Given the description of an element on the screen output the (x, y) to click on. 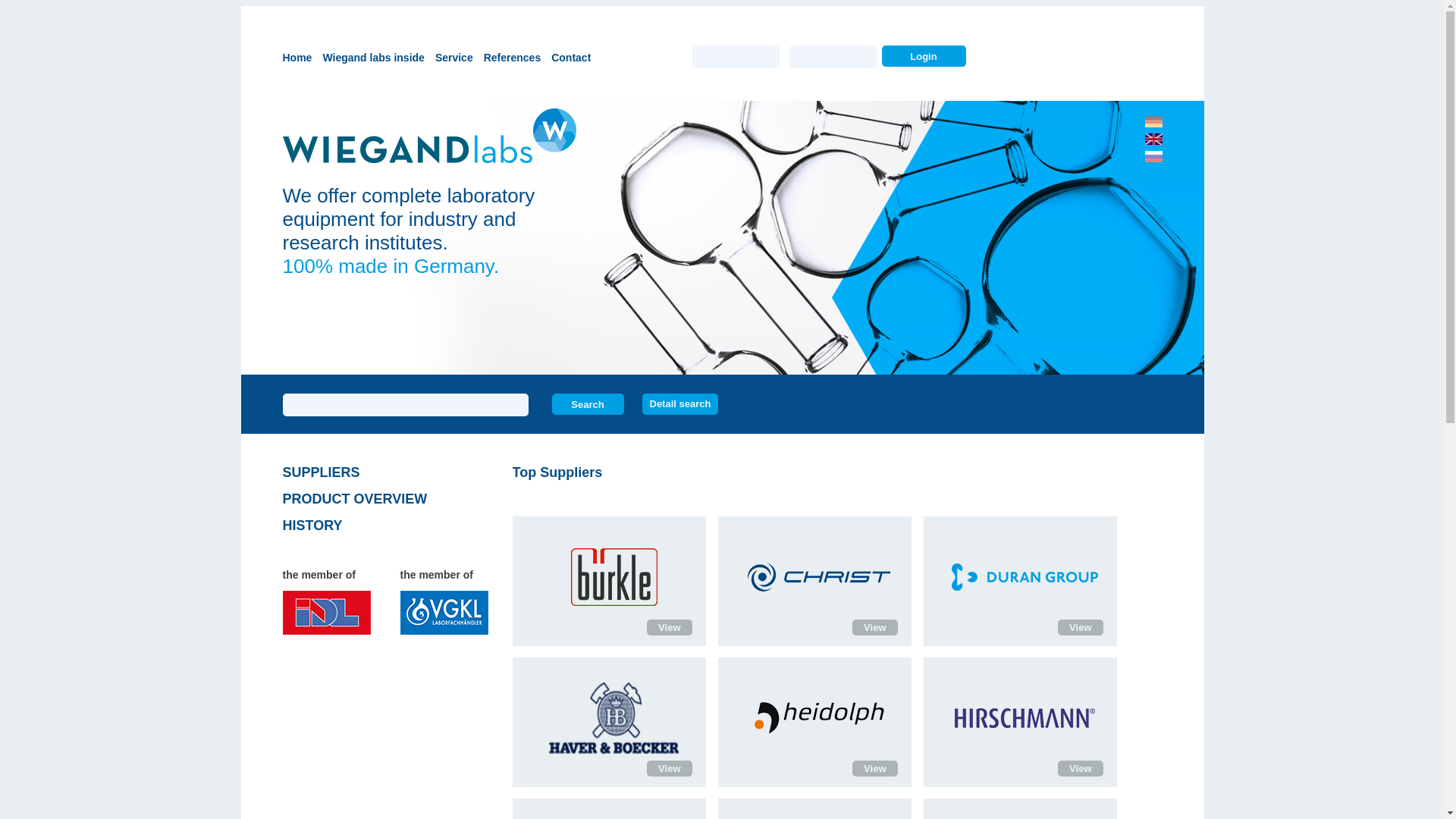
PRODUCT OVERVIEW (382, 498)
View (1080, 768)
References (513, 56)
Search (587, 403)
Service (454, 56)
Login (922, 55)
German (1152, 123)
View (873, 768)
Wiegand labs inside (373, 56)
View (668, 627)
SUPPLIERS (382, 472)
View (668, 768)
Login (922, 55)
Detail search (679, 403)
